Given the description of an element on the screen output the (x, y) to click on. 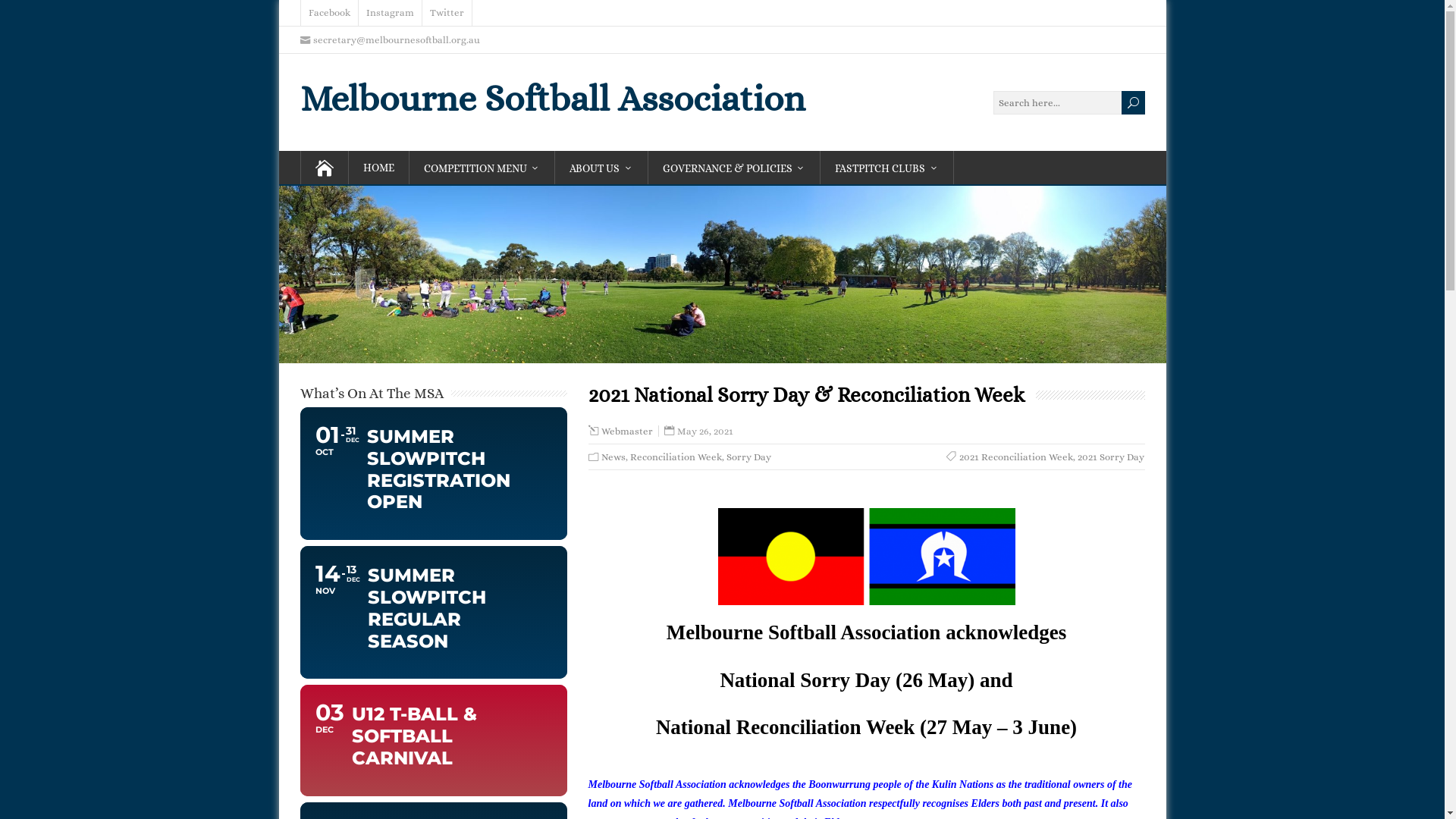
U Element type: text (1132, 102)
Facebook Element type: text (328, 12)
03
DEC
U12 T-BALL & SOFTBALL CARNIVAL Element type: text (433, 739)
COMPETITION MENU Element type: text (482, 167)
Twitter Element type: text (446, 12)
ABOUT US Element type: text (601, 167)
Sorry Day Element type: text (748, 456)
01
OCT
31
DEC
SUMMER SLOWPITCH REGISTRATION OPEN Element type: text (433, 473)
Melbourne Softball Association Element type: text (552, 98)
2021 Reconciliation Week Element type: text (1016, 456)
Webmaster Element type: text (626, 431)
GOVERNANCE & POLICIES Element type: text (733, 167)
Instagram Element type: text (389, 12)
Reconciliation Week Element type: text (675, 456)
2021 Sorry Day Element type: text (1110, 456)
FASTPITCH CLUBS Element type: text (886, 167)
14
NOV
13
DEC
SUMMER SLOWPITCH REGULAR SEASON Element type: text (433, 612)
News Element type: text (612, 456)
HOME Element type: text (378, 167)
